Given the description of an element on the screen output the (x, y) to click on. 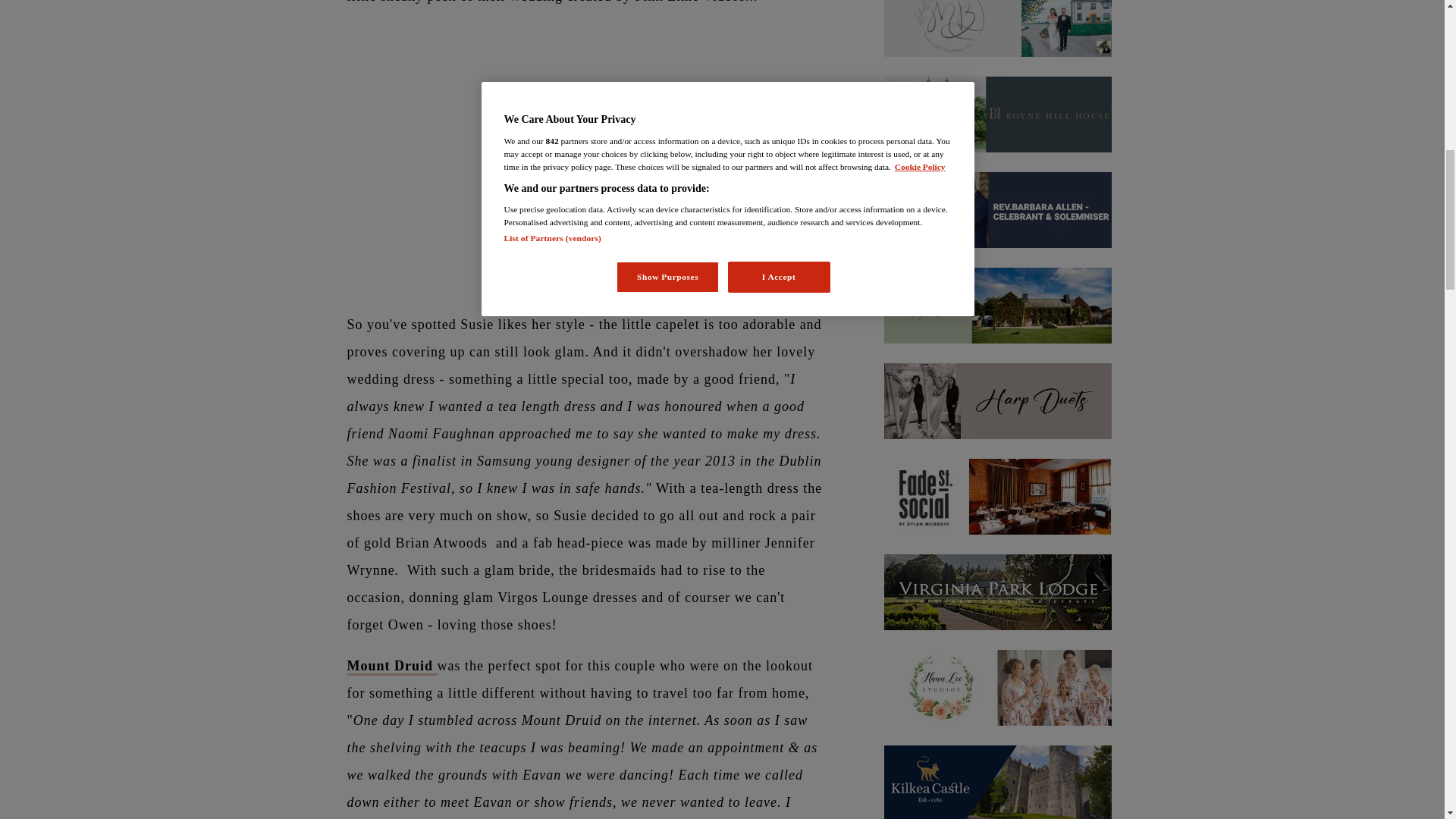
mount druid (392, 666)
